Given the description of an element on the screen output the (x, y) to click on. 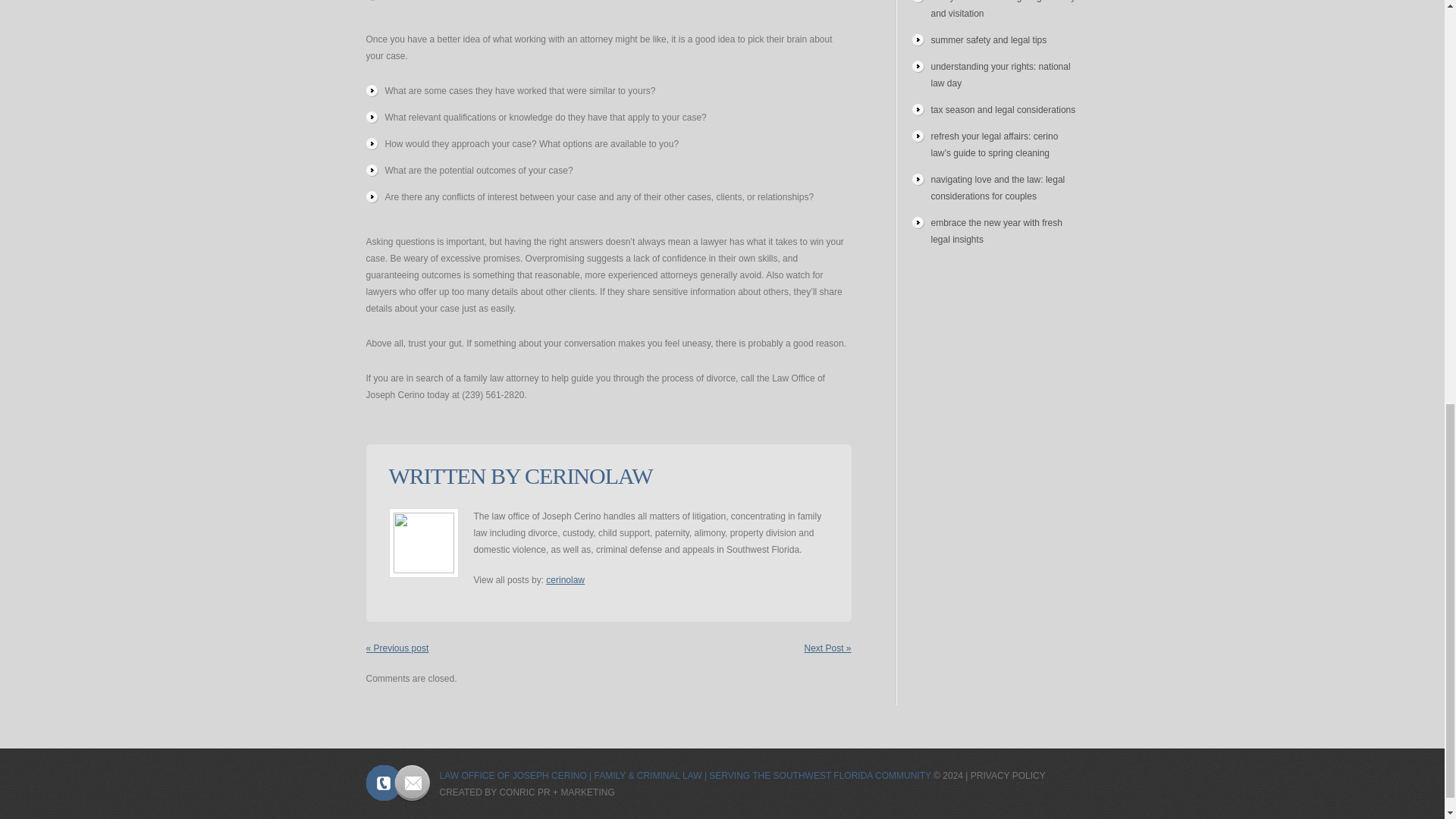
summer safety and legal tips (988, 40)
cerinolaw (565, 579)
tax season and legal considerations (1003, 109)
understanding your rights: national law day (1000, 74)
PRIVACY POLICY (1008, 775)
family law focus: navigating custody and visitation (1003, 9)
Posts by cerinolaw (565, 579)
CONTACTS (397, 782)
Posts by cerinolaw (588, 475)
CERINOLAW (588, 475)
embrace the new year with fresh legal insights (996, 230)
Privacy Policy (1008, 775)
